Given the description of an element on the screen output the (x, y) to click on. 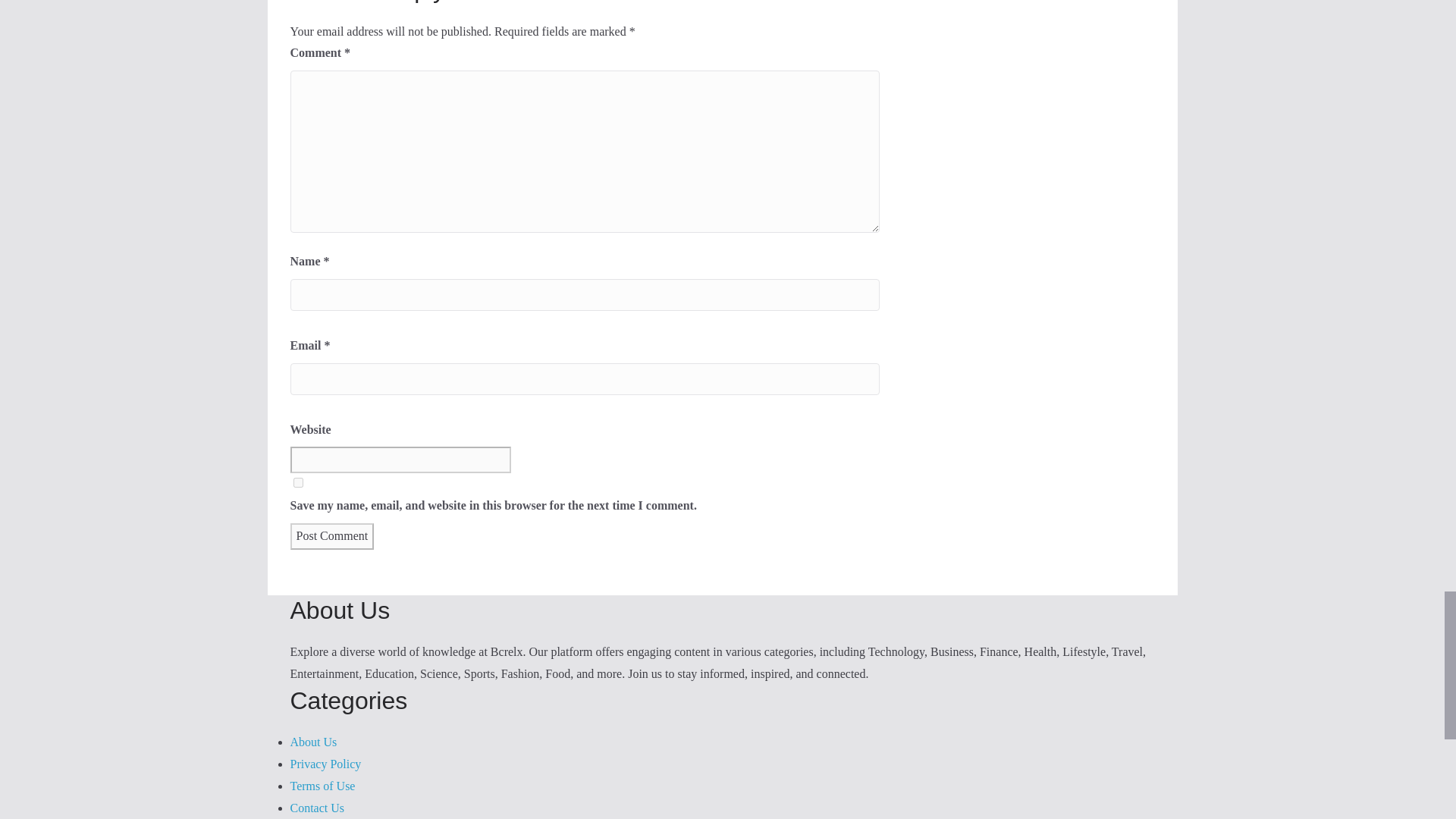
yes (297, 482)
Post Comment (331, 536)
